Given the description of an element on the screen output the (x, y) to click on. 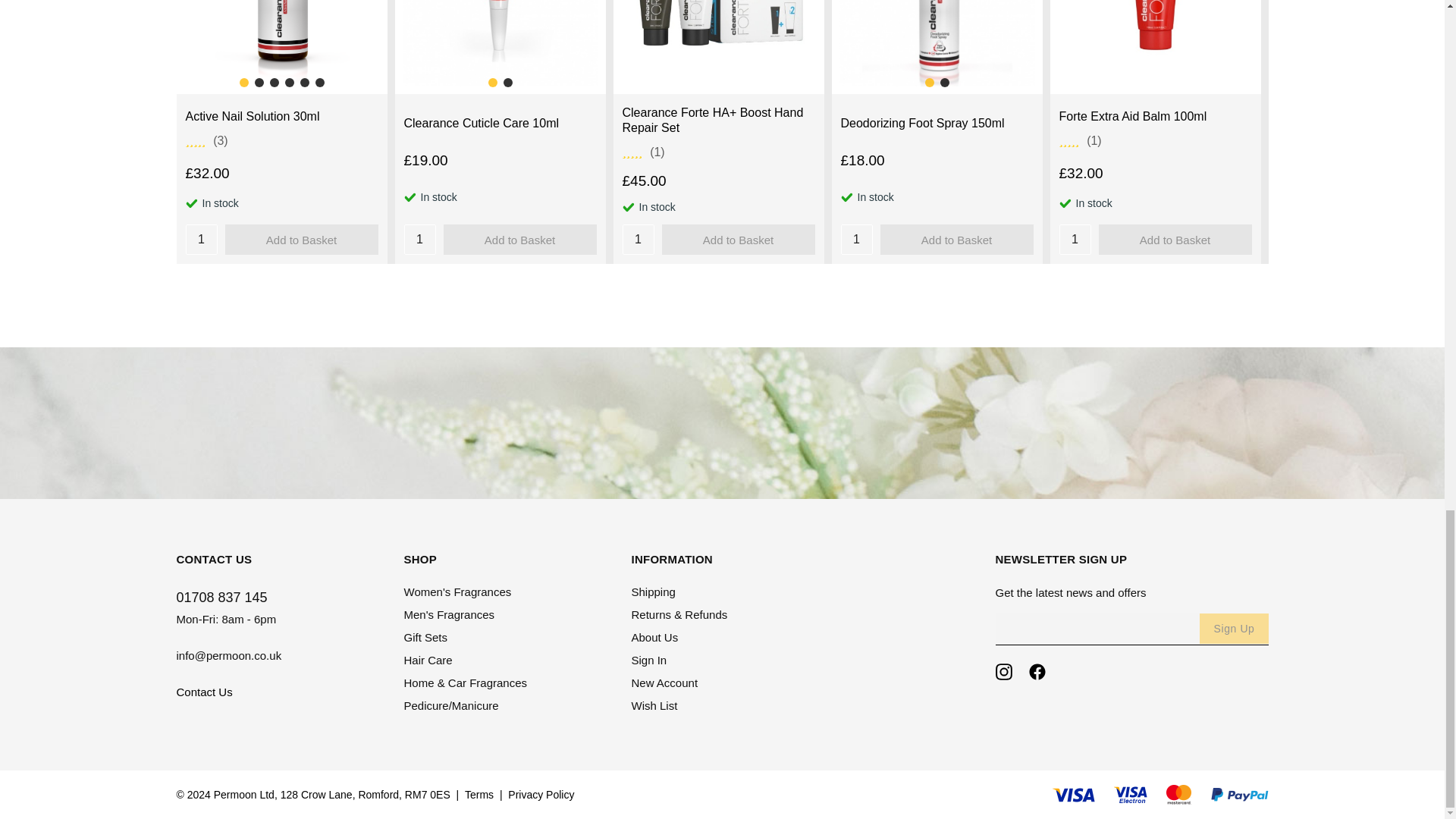
Add to Basket (300, 239)
Clearance Cuticle Care 10ml (481, 123)
Active Nail Solution 30ml (251, 116)
Add to Basket (518, 239)
In stock (627, 206)
1 (200, 239)
In stock (845, 196)
Deodorizing Foot Spray 150ml (922, 123)
In stock (1064, 203)
In stock (190, 203)
